Given the description of an element on the screen output the (x, y) to click on. 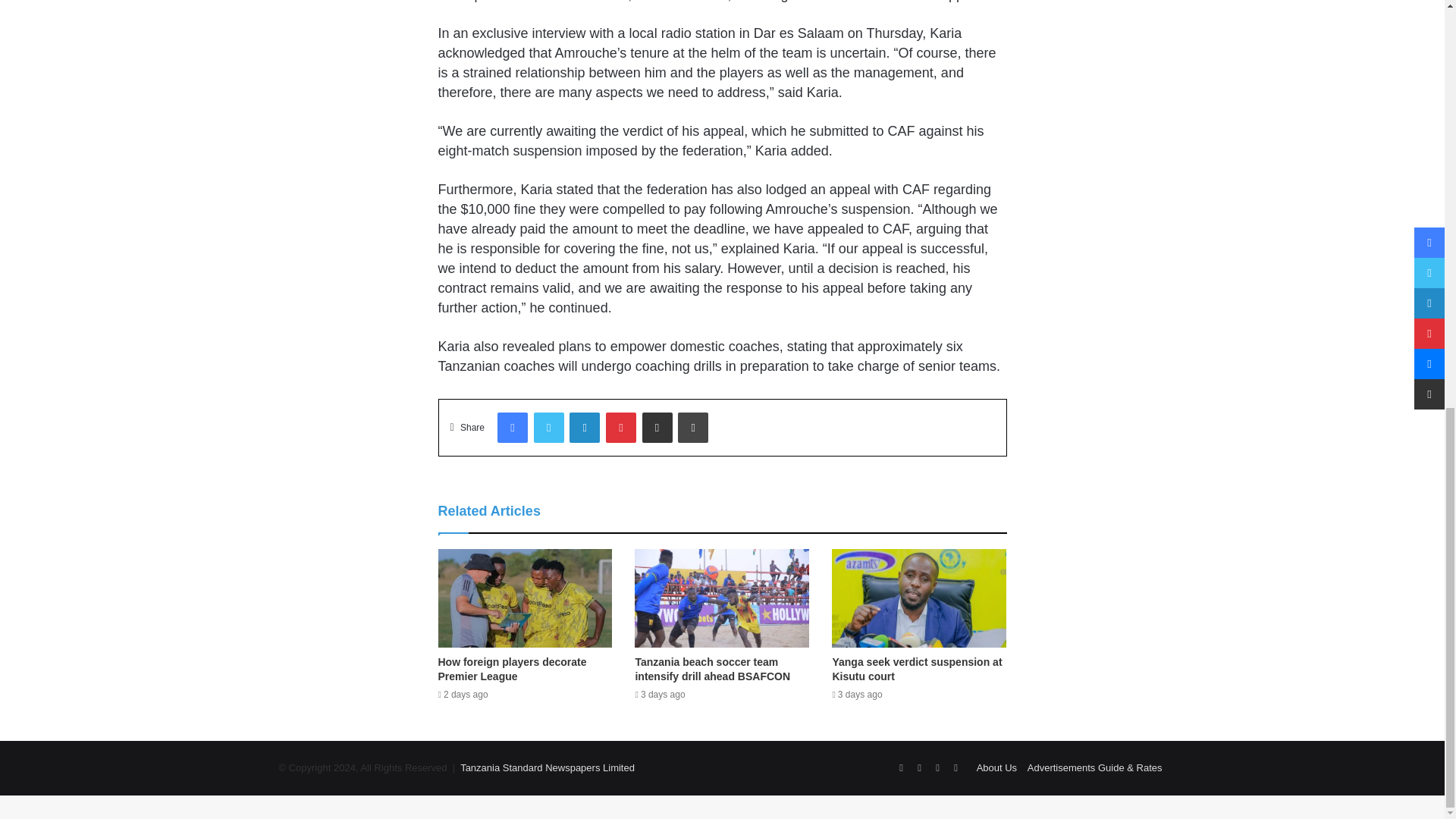
Facebook (512, 427)
LinkedIn (584, 427)
Twitter (549, 427)
Pinterest (620, 427)
Twitter (549, 427)
Print (692, 427)
Share via Email (656, 427)
Facebook (512, 427)
Pinterest (620, 427)
LinkedIn (584, 427)
